Given the description of an element on the screen output the (x, y) to click on. 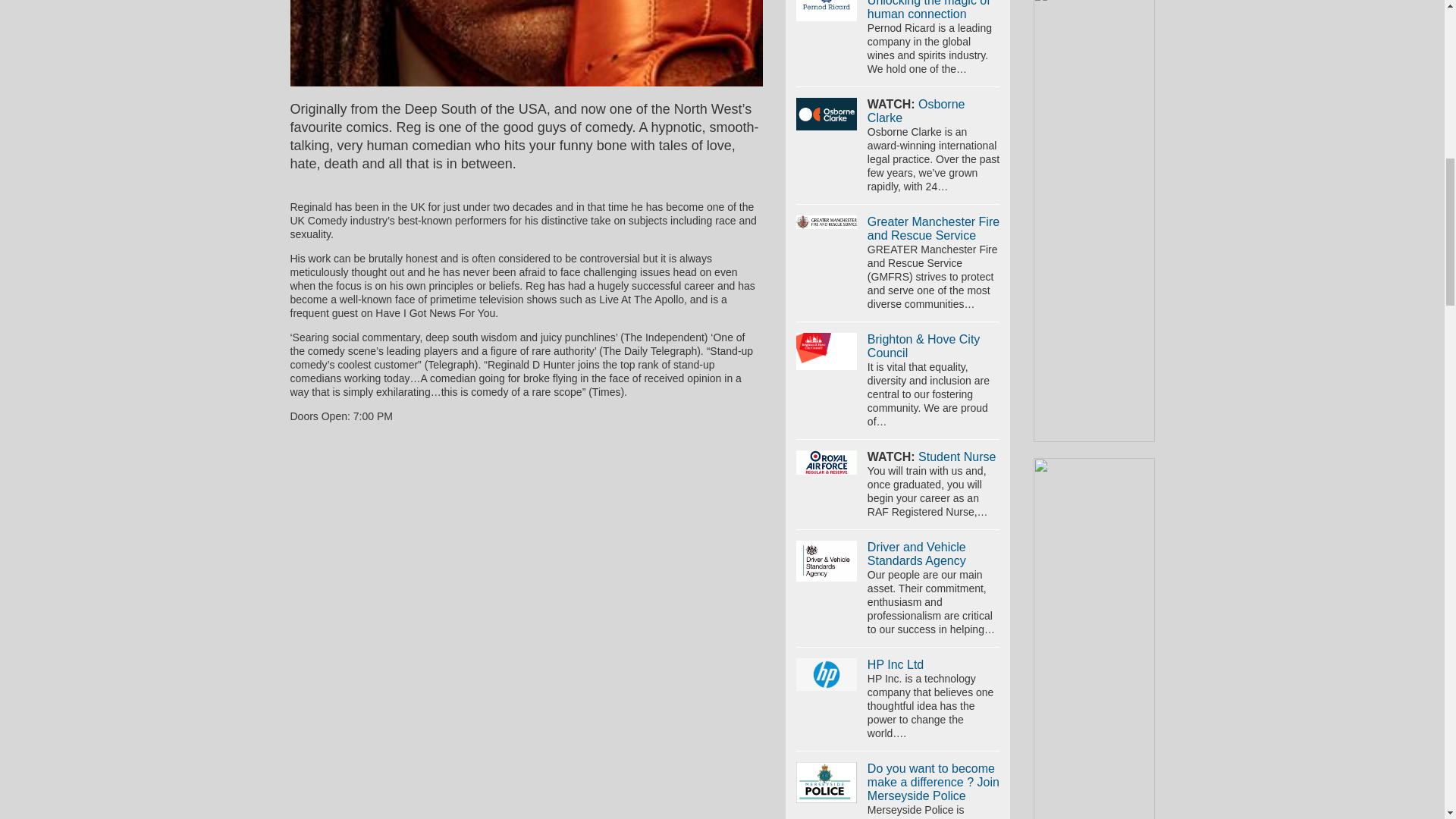
Pernod Ricard : Unlocking the magic of human connection (928, 10)
Osborne Clarke (826, 113)
Pernod Ricard : Unlocking the magic of human connection (826, 10)
